Given the description of an element on the screen output the (x, y) to click on. 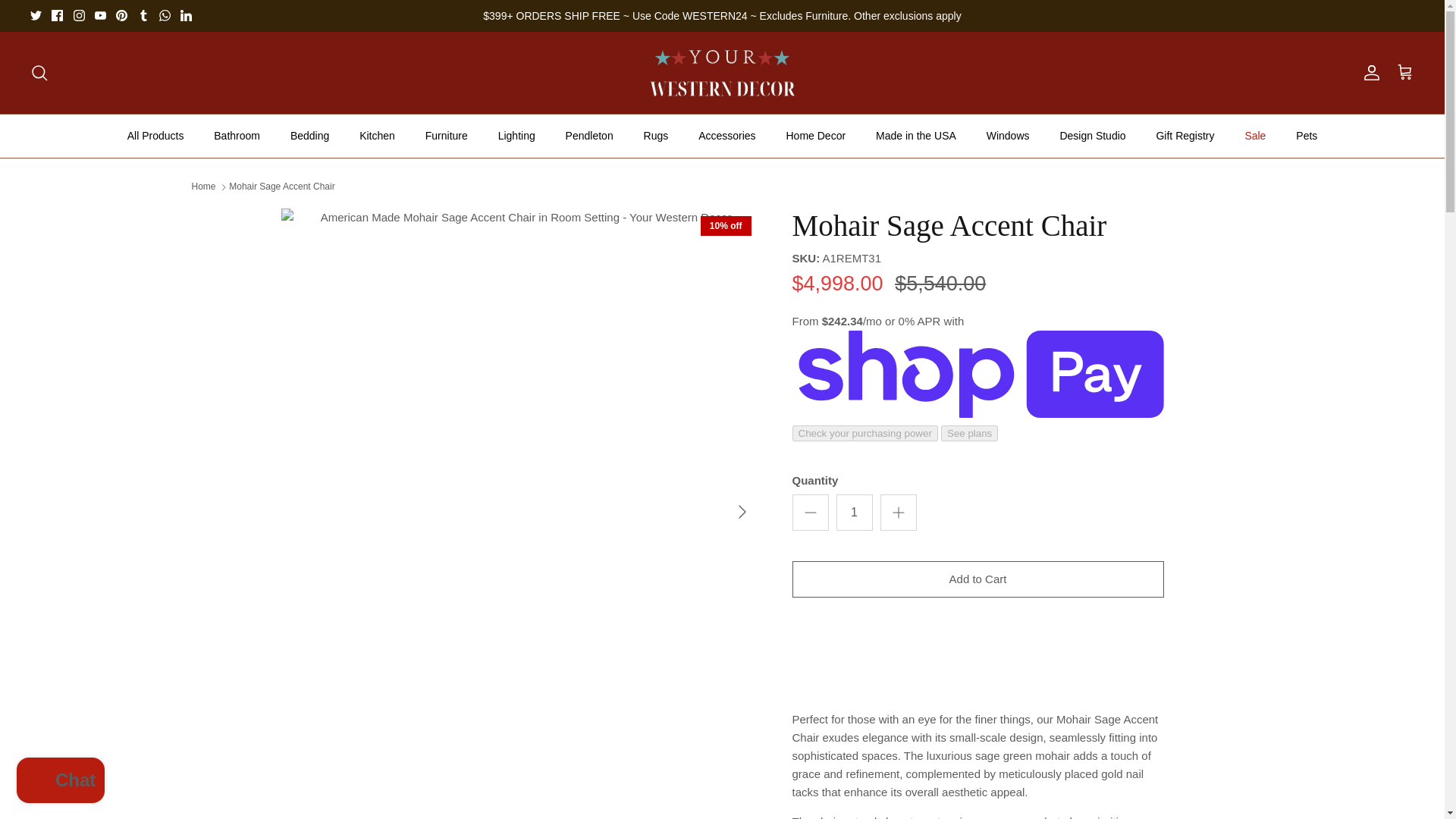
All Products (155, 136)
Tumblr (143, 15)
Facebook (56, 15)
Minus (809, 512)
Pinterest (122, 15)
Twitter (36, 15)
Youtube (100, 15)
Shopify online store chat (60, 781)
Facebook (56, 15)
Cart (1404, 72)
Instagram (79, 15)
Plus (897, 512)
Twitter (36, 15)
1 (853, 512)
Right (741, 511)
